Given the description of an element on the screen output the (x, y) to click on. 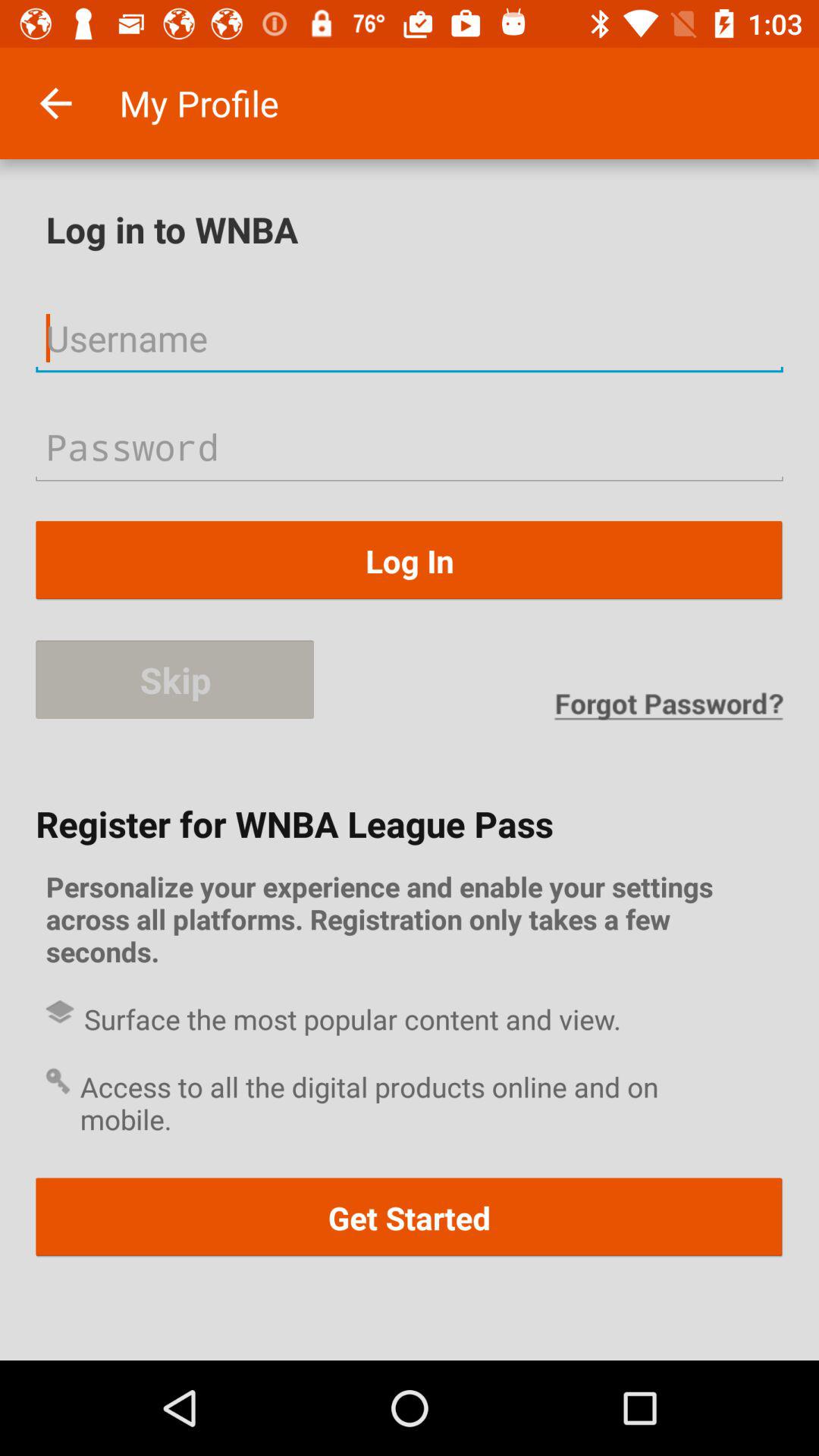
because back devicer (409, 337)
